Given the description of an element on the screen output the (x, y) to click on. 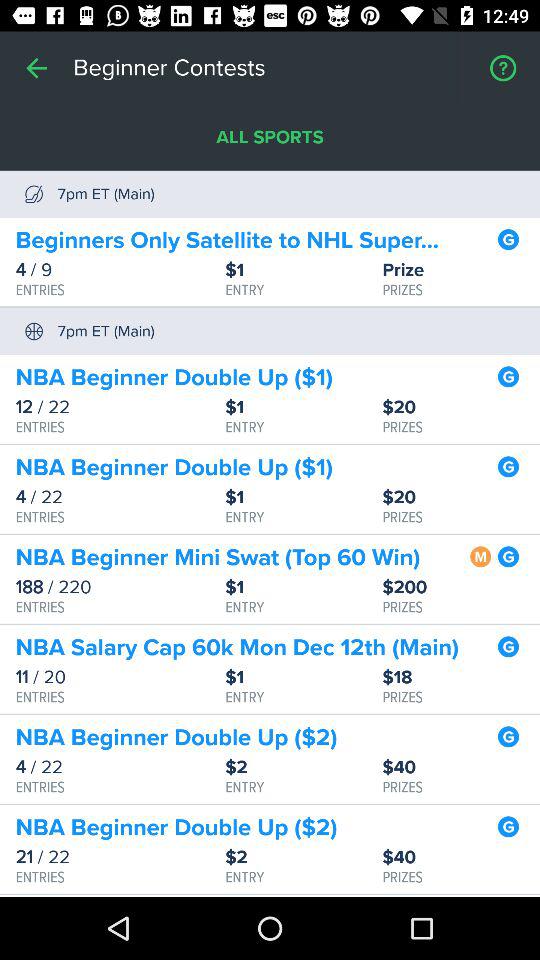
turn off the item below the beginners only satellite (461, 270)
